Given the description of an element on the screen output the (x, y) to click on. 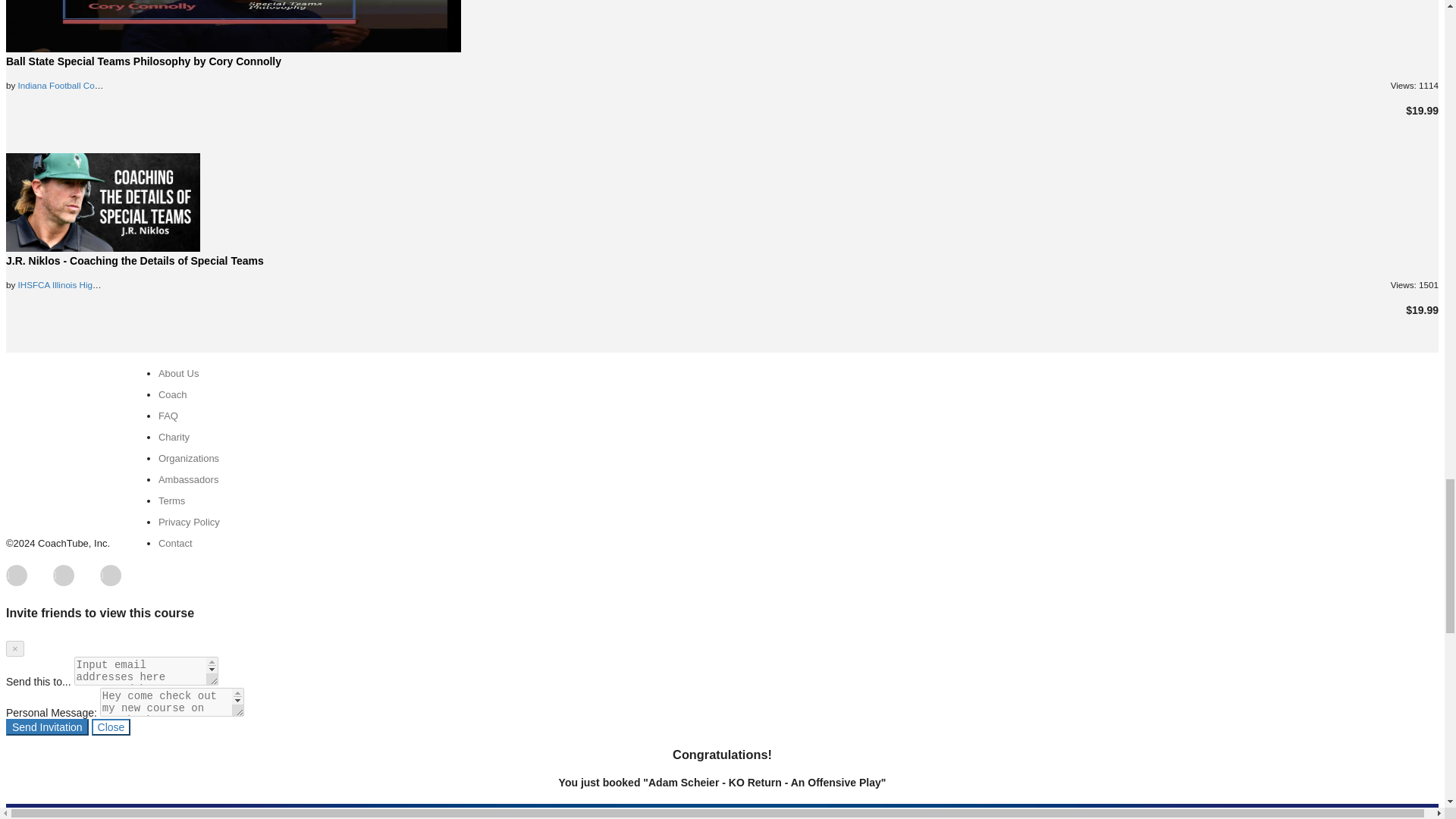
J.R. Niklos - Coaching the Details of Special Teams (102, 202)
Indiana Football Coaches Association (91, 85)
Ball State Special Teams Philosophy by Cory Connolly (233, 26)
IHSFCA Illinois High School Football Coaches Association (131, 284)
